Given the description of an element on the screen output the (x, y) to click on. 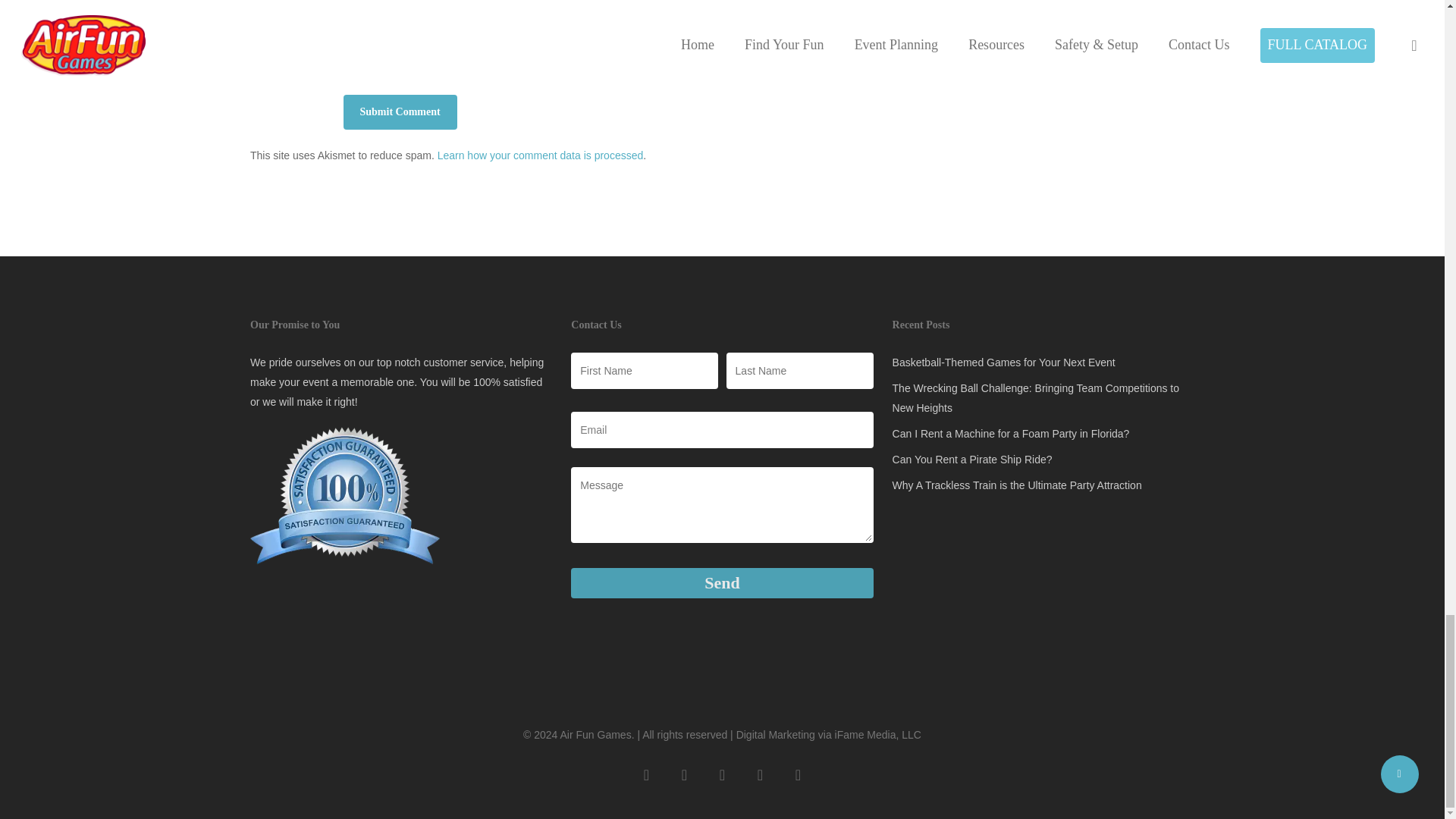
Email (721, 429)
yes (350, 49)
Submit Comment (399, 112)
Send (721, 583)
